Given the description of an element on the screen output the (x, y) to click on. 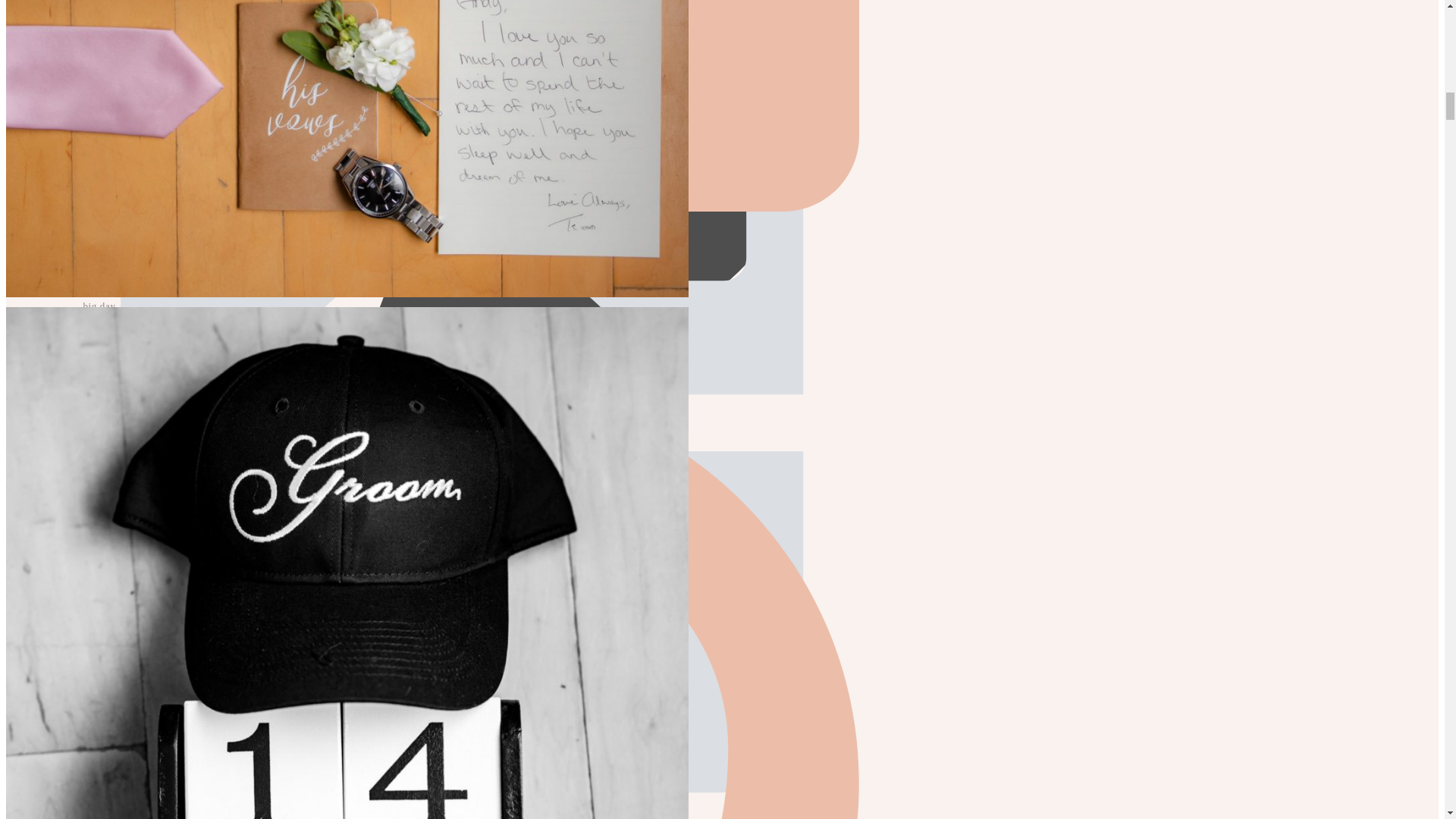
FIND US ON (460, 458)
READ (460, 328)
